Given the description of an element on the screen output the (x, y) to click on. 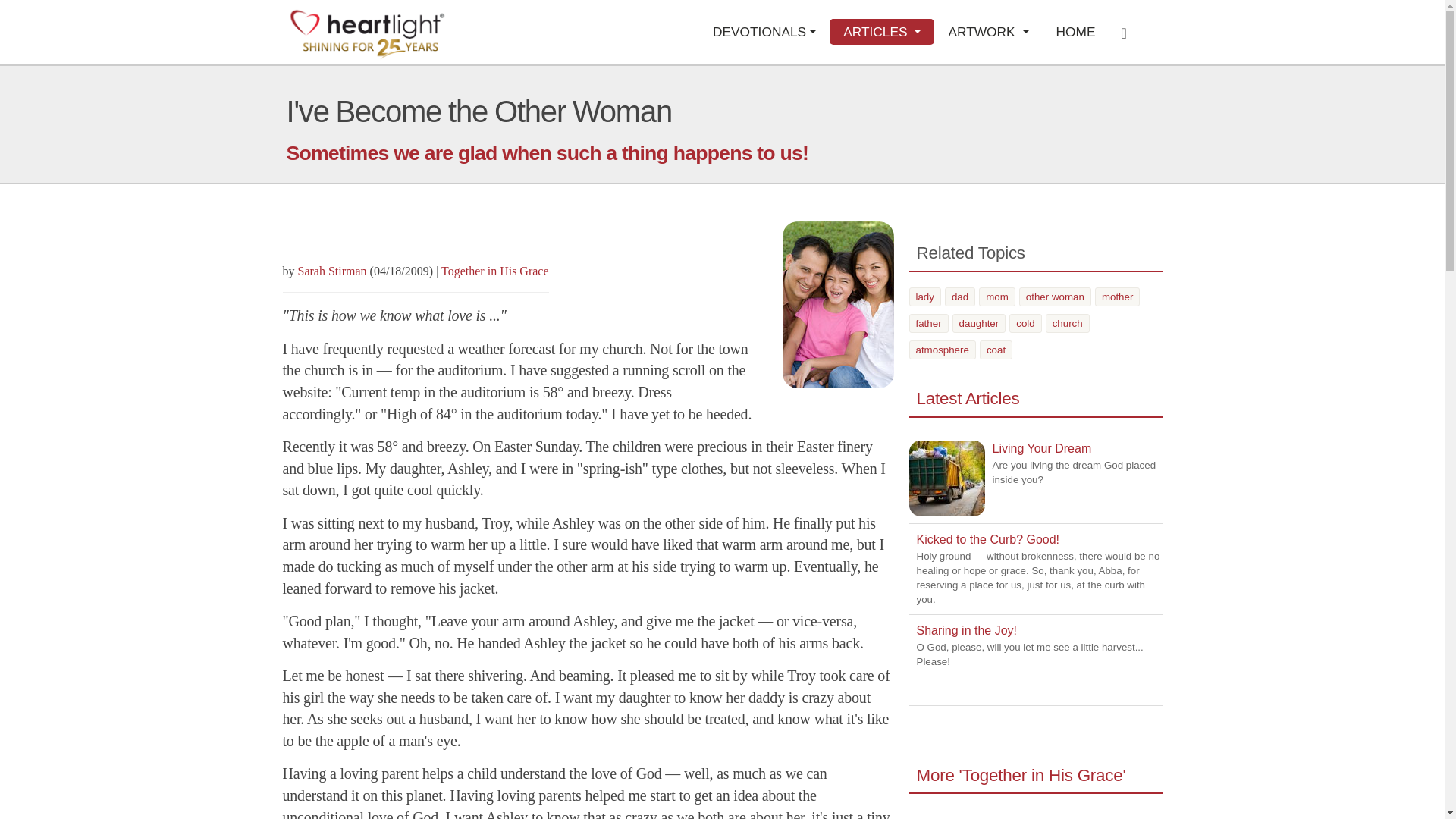
Living Your Dream (946, 478)
ARTWORK (988, 31)
ARTICLES (881, 31)
Heartlight - Home (367, 33)
DEVOTIONALS (763, 31)
Search Heartlight (1127, 32)
HOME (1075, 31)
